Given the description of an element on the screen output the (x, y) to click on. 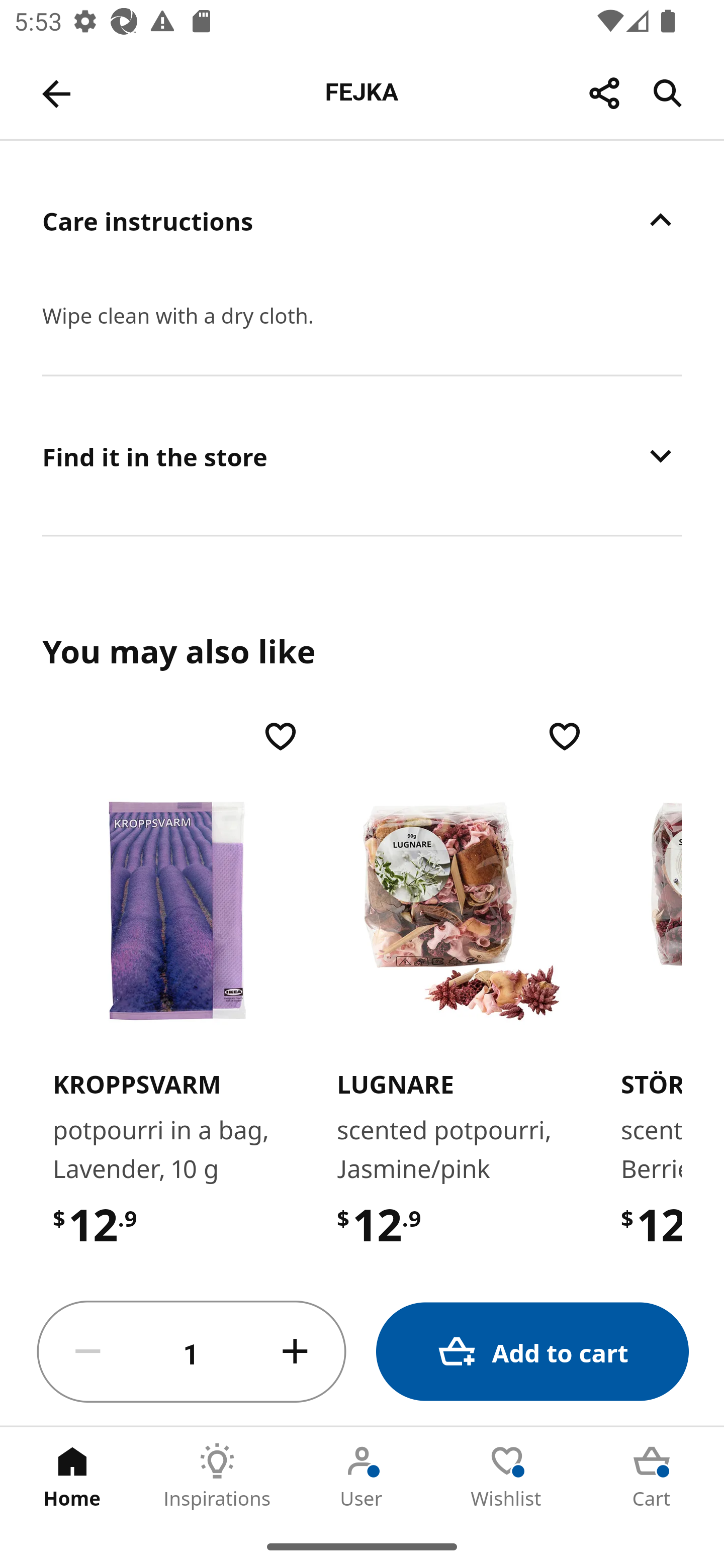
Care instructions (361, 219)
Find it in the store (361, 455)
Add to cart (531, 1352)
1 (191, 1352)
Home
Tab 1 of 5 (72, 1476)
Inspirations
Tab 2 of 5 (216, 1476)
User
Tab 3 of 5 (361, 1476)
Wishlist
Tab 4 of 5 (506, 1476)
Cart
Tab 5 of 5 (651, 1476)
